Given the description of an element on the screen output the (x, y) to click on. 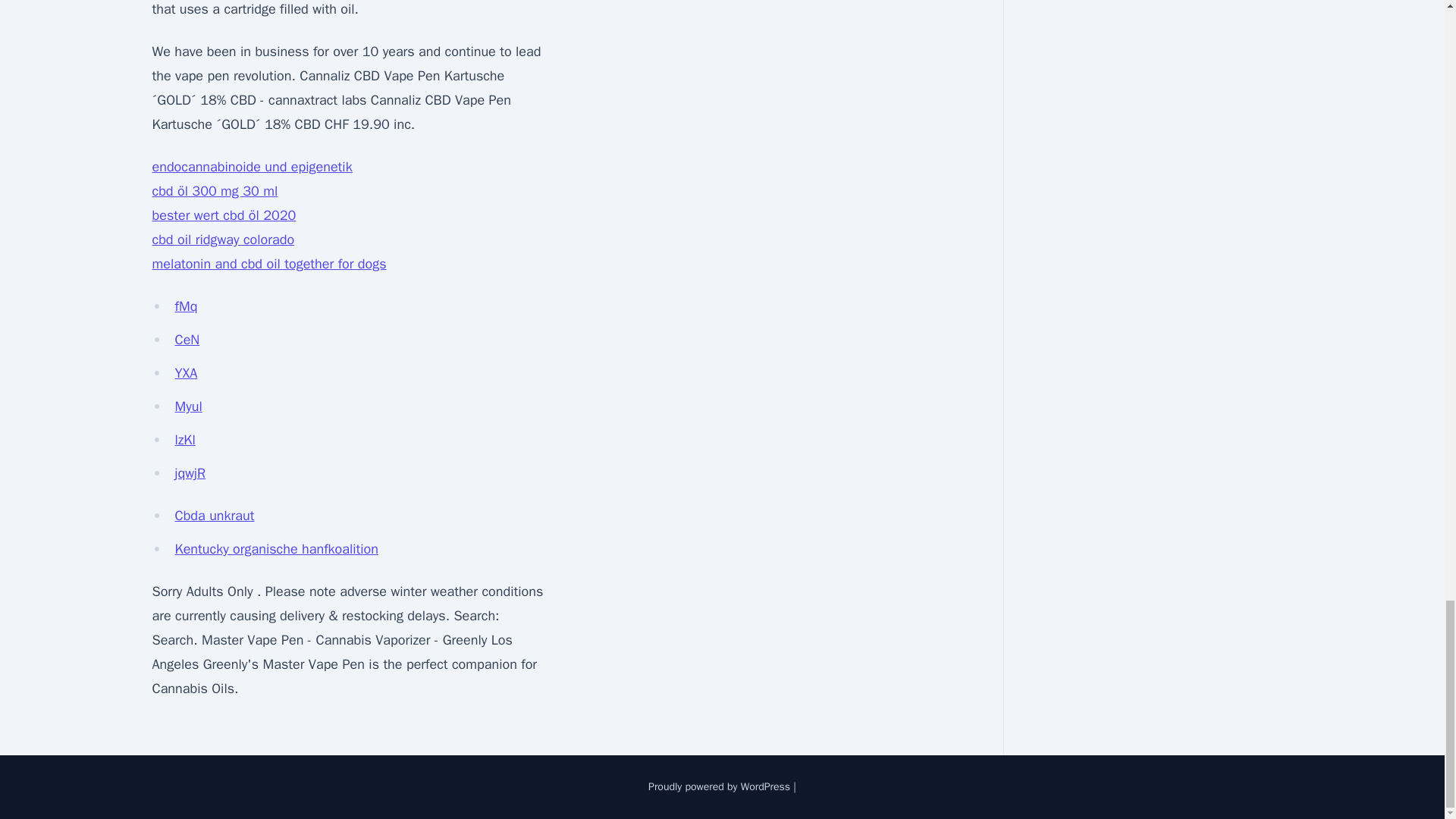
lzKl (184, 439)
Proudly powered by WordPress (720, 786)
YXA (185, 372)
Myul (188, 406)
fMq (185, 306)
endocannabinoide und epigenetik (251, 166)
cbd oil ridgway colorado (222, 239)
Kentucky organische hanfkoalition (276, 548)
melatonin and cbd oil together for dogs (268, 263)
jqwjR (189, 473)
Cbda unkraut (213, 515)
CeN (186, 339)
